Given the description of an element on the screen output the (x, y) to click on. 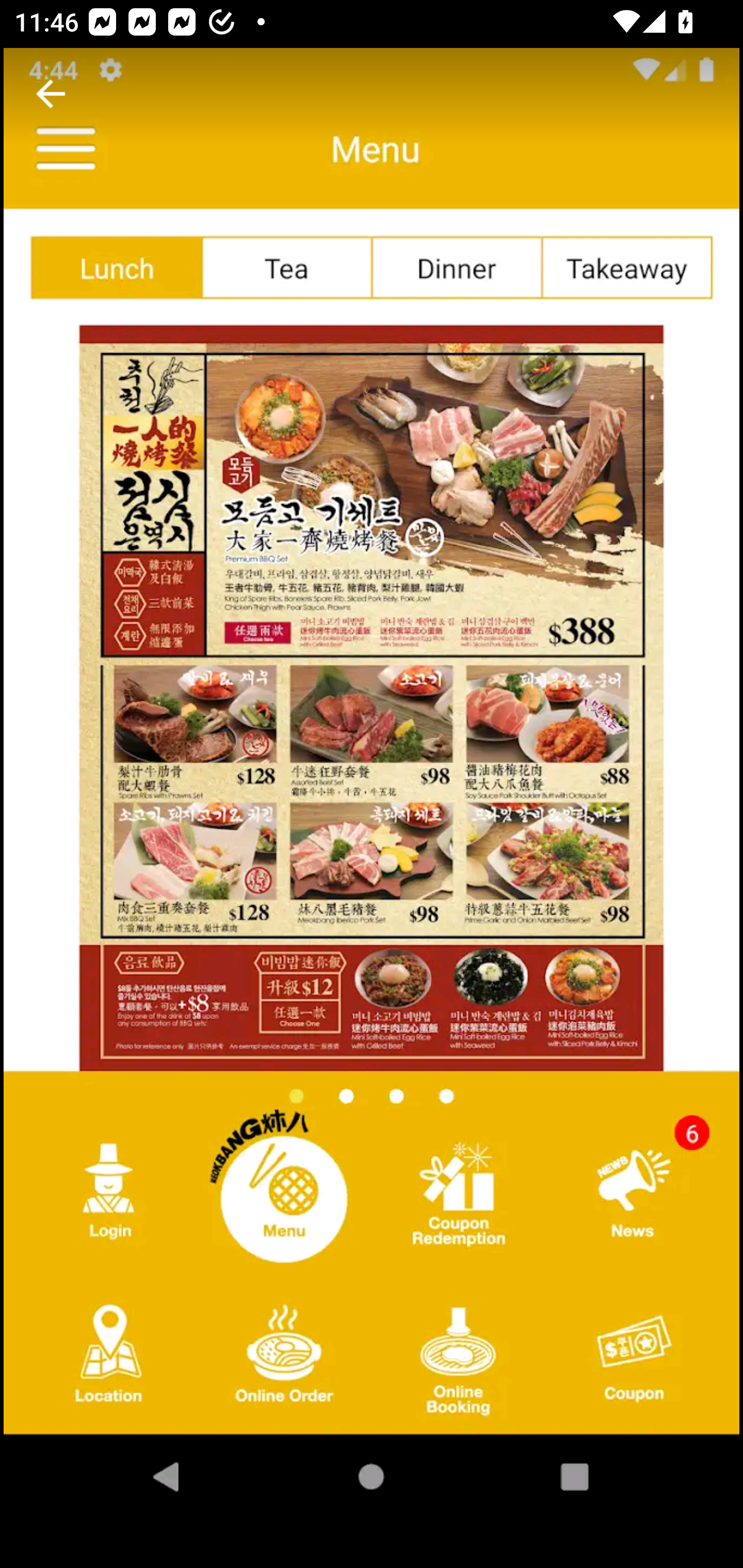
Back (50, 93)
